Given the description of an element on the screen output the (x, y) to click on. 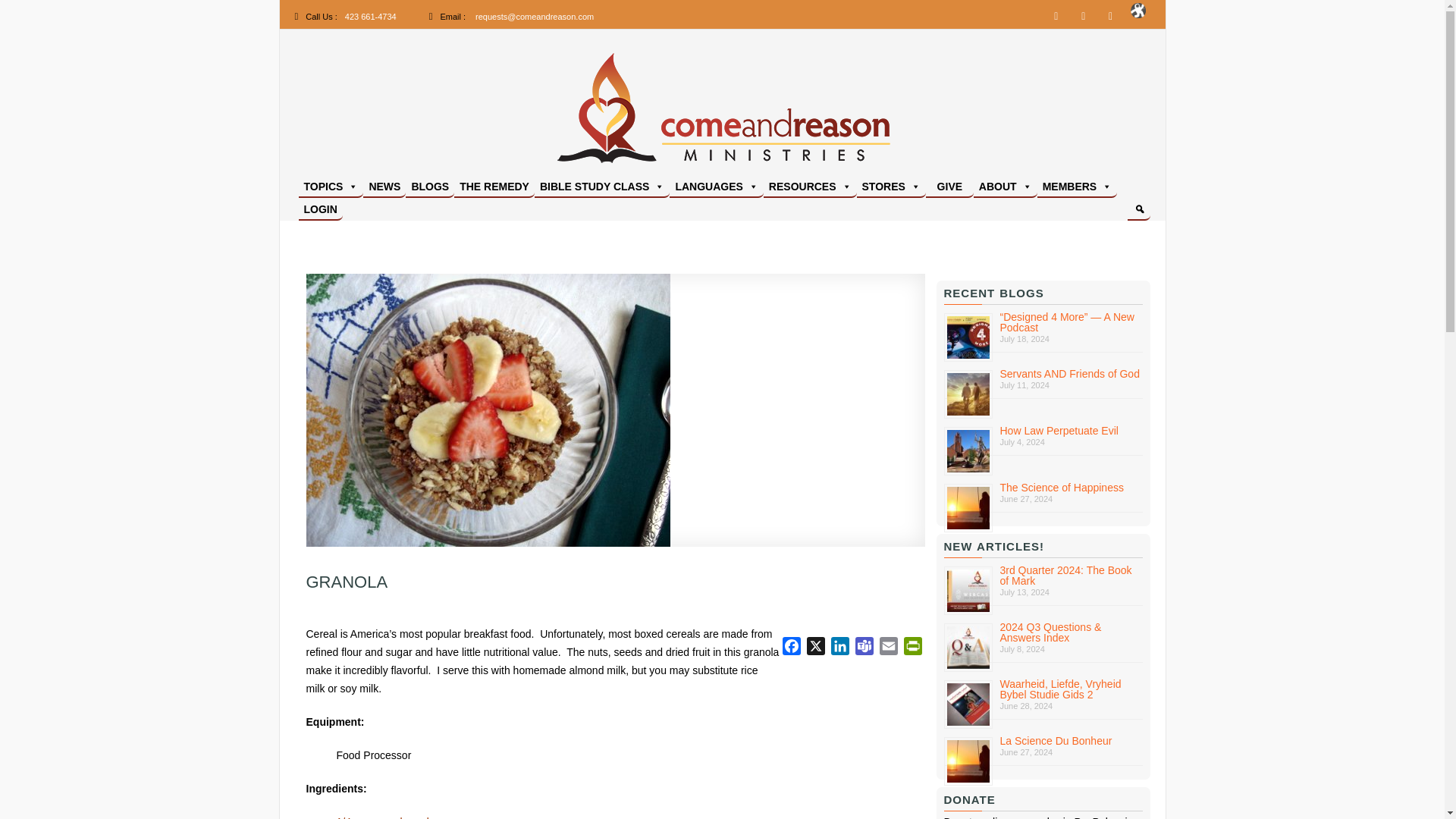
LANGUAGES (715, 186)
Click to email us (535, 16)
THE REMEDY (494, 186)
Click to go to our Facebook page (1055, 15)
HOME (722, 112)
BLOGS (430, 186)
423 661-4734 (370, 16)
BIBLE STUDY CLASS (601, 186)
Click to go to our videos on Odysee (1137, 15)
Click to go to our Twitter page (1083, 15)
Come And Reason Ministries (868, 186)
NEWS (384, 186)
Come And Reason Ministries (868, 186)
Granola (487, 410)
